Given the description of an element on the screen output the (x, y) to click on. 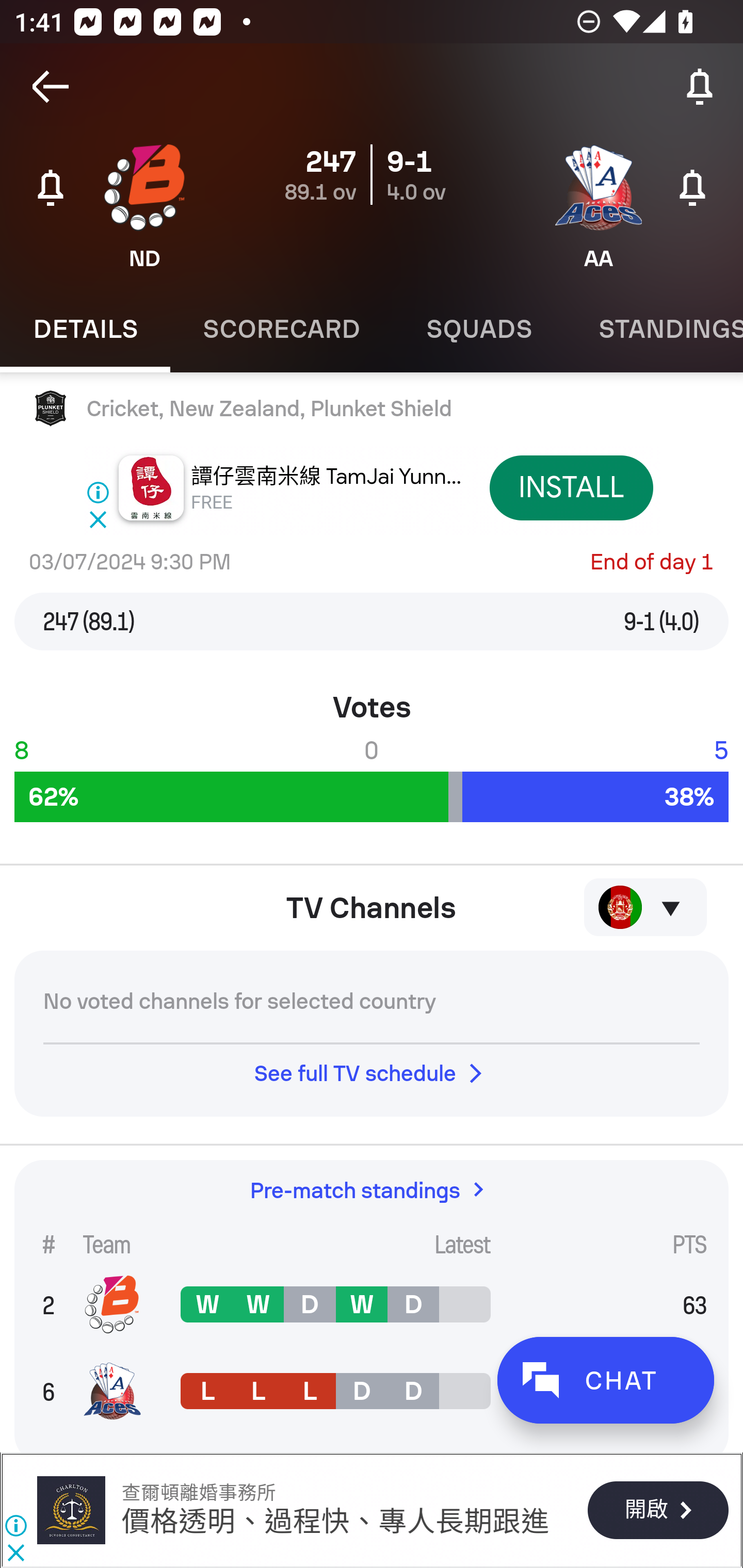
Navigate up (50, 86)
Scorecard SCORECARD (281, 329)
Squads SQUADS (479, 329)
Standings STANDINGS (654, 329)
Cricket, New Zealand, Plunket Shield (371, 409)
INSTALL (570, 487)
譚仔雲南米線 TamJai Yunn… (326, 476)
FREE (212, 502)
See full TV schedule (371, 1073)
CHAT (605, 1380)
查爾頓離婚事務所 (71, 1509)
查爾頓離婚事務所 (197, 1493)
開啟 (657, 1511)
價格透明、過程快、專人長期跟進 (335, 1523)
